Given the description of an element on the screen output the (x, y) to click on. 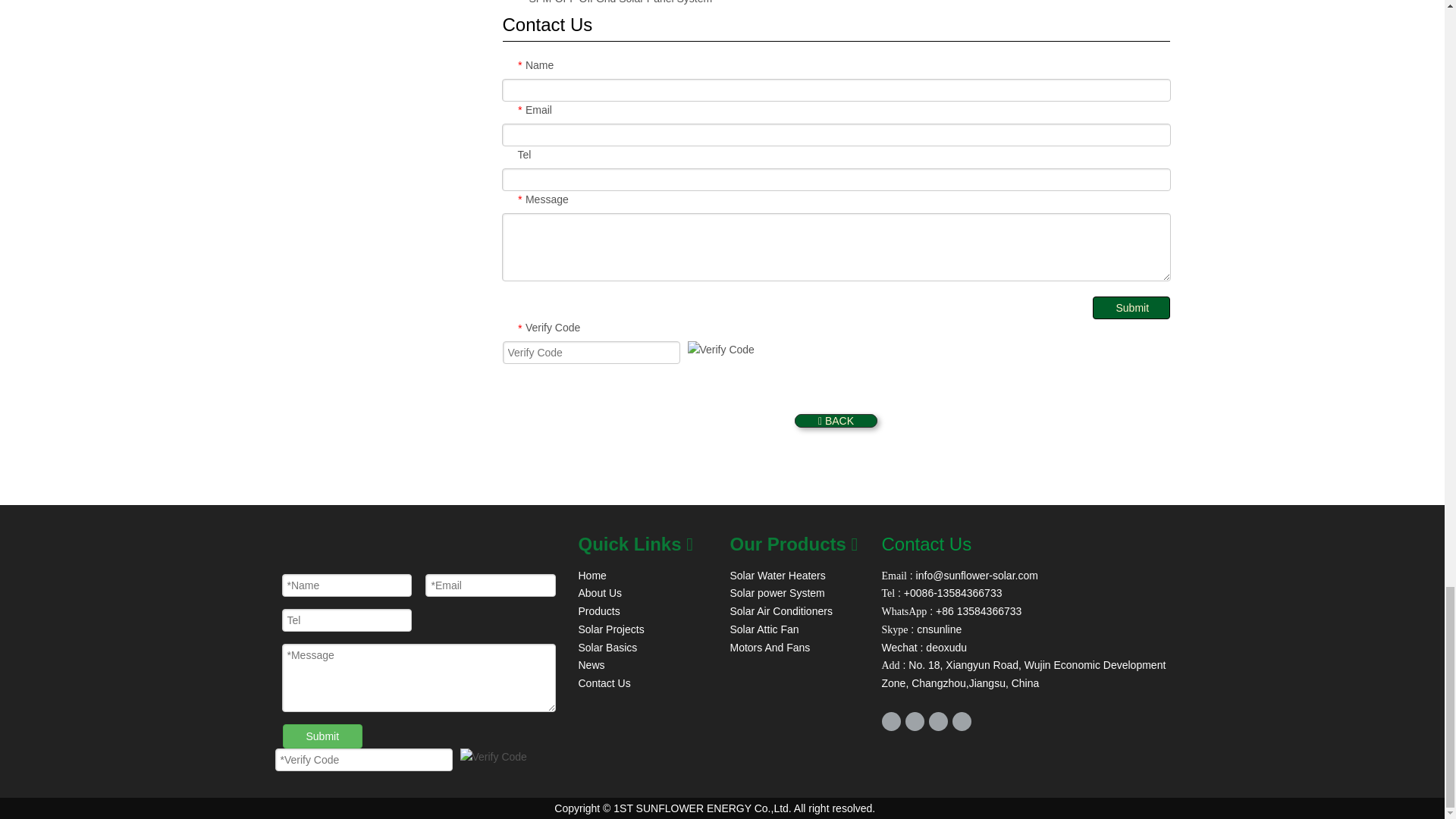
Products  (599, 611)
Solar Projects (610, 629)
SFM-OFF Off Grid Solar Panel System (621, 2)
About Us (599, 592)
Home (591, 575)
